Given the description of an element on the screen output the (x, y) to click on. 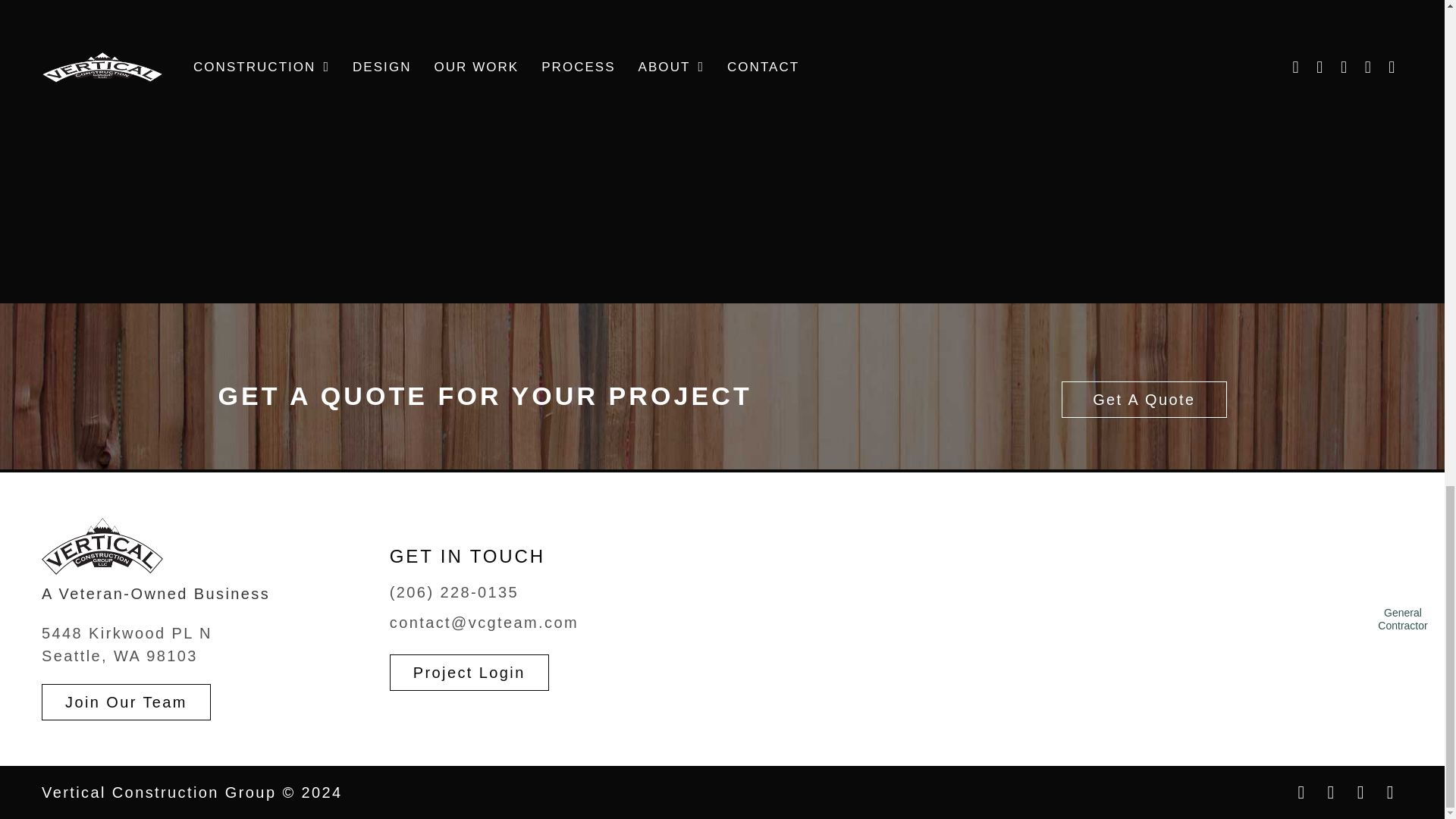
Project Login (469, 672)
Join Our Team (126, 701)
Get A Quote (127, 644)
